Given the description of an element on the screen output the (x, y) to click on. 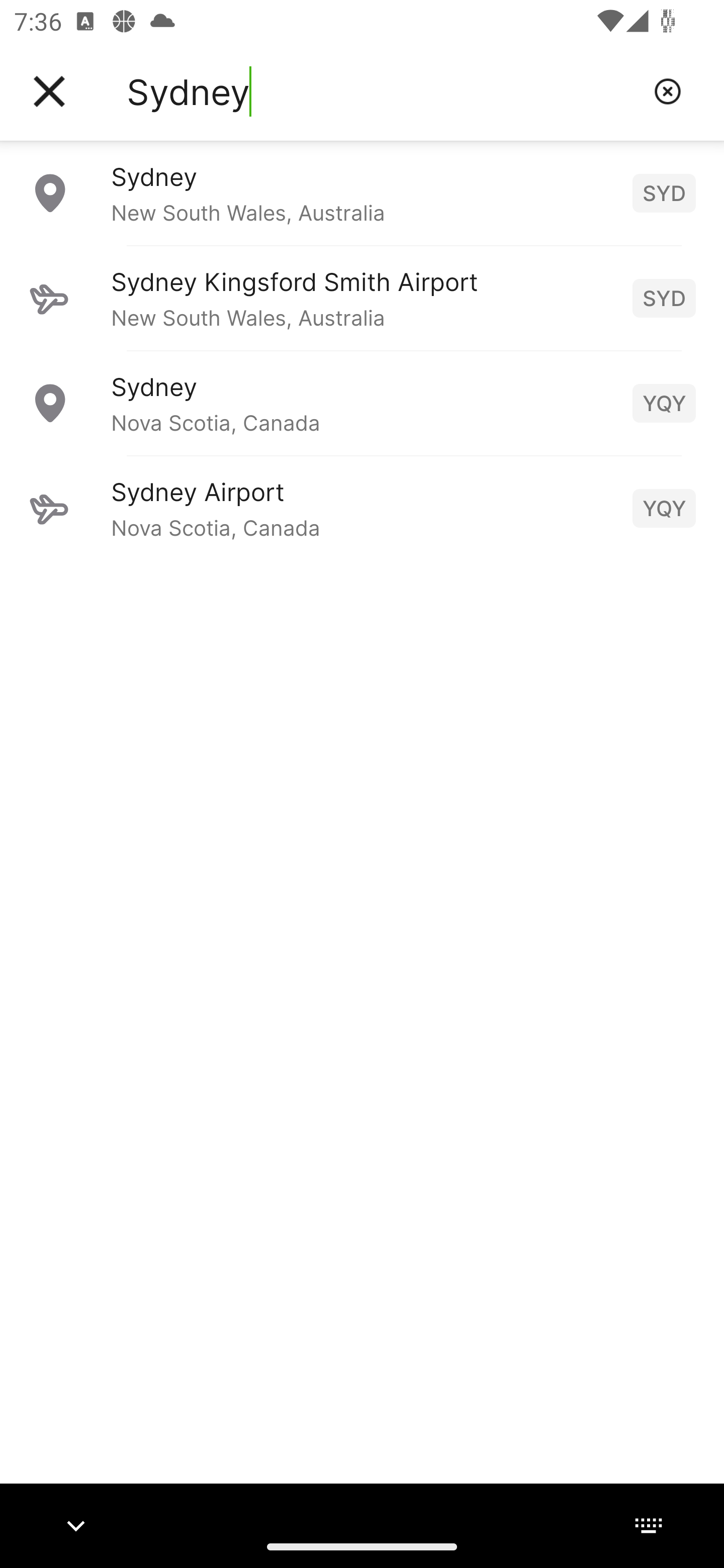
Sydney (382, 91)
Sydney New South Wales, Australia SYD (362, 192)
Sydney Nova Scotia, Canada YQY (362, 402)
Sydney Airport Nova Scotia, Canada YQY (362, 507)
